Given the description of an element on the screen output the (x, y) to click on. 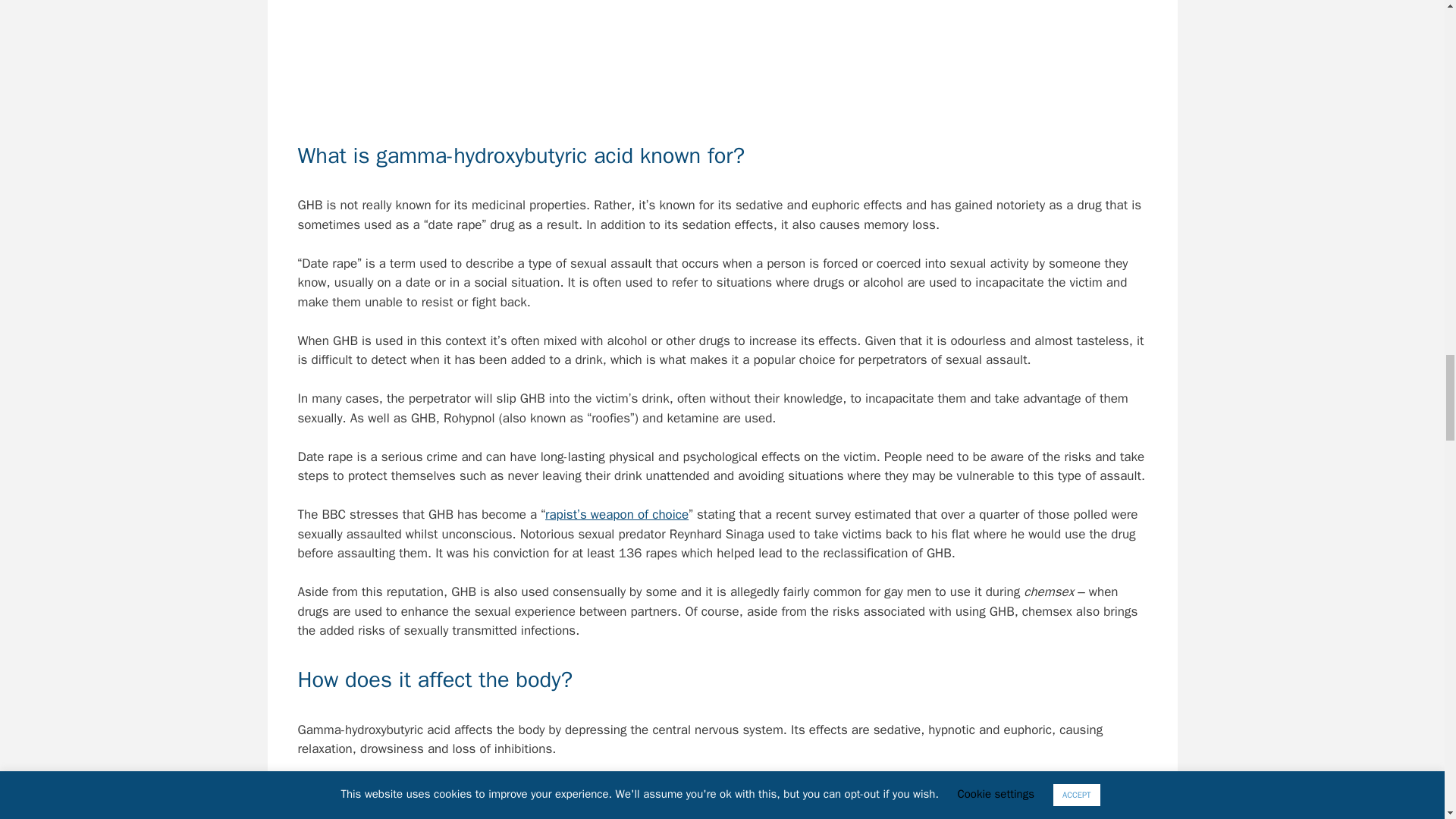
Taking GHB through needle (722, 58)
